Given the description of an element on the screen output the (x, y) to click on. 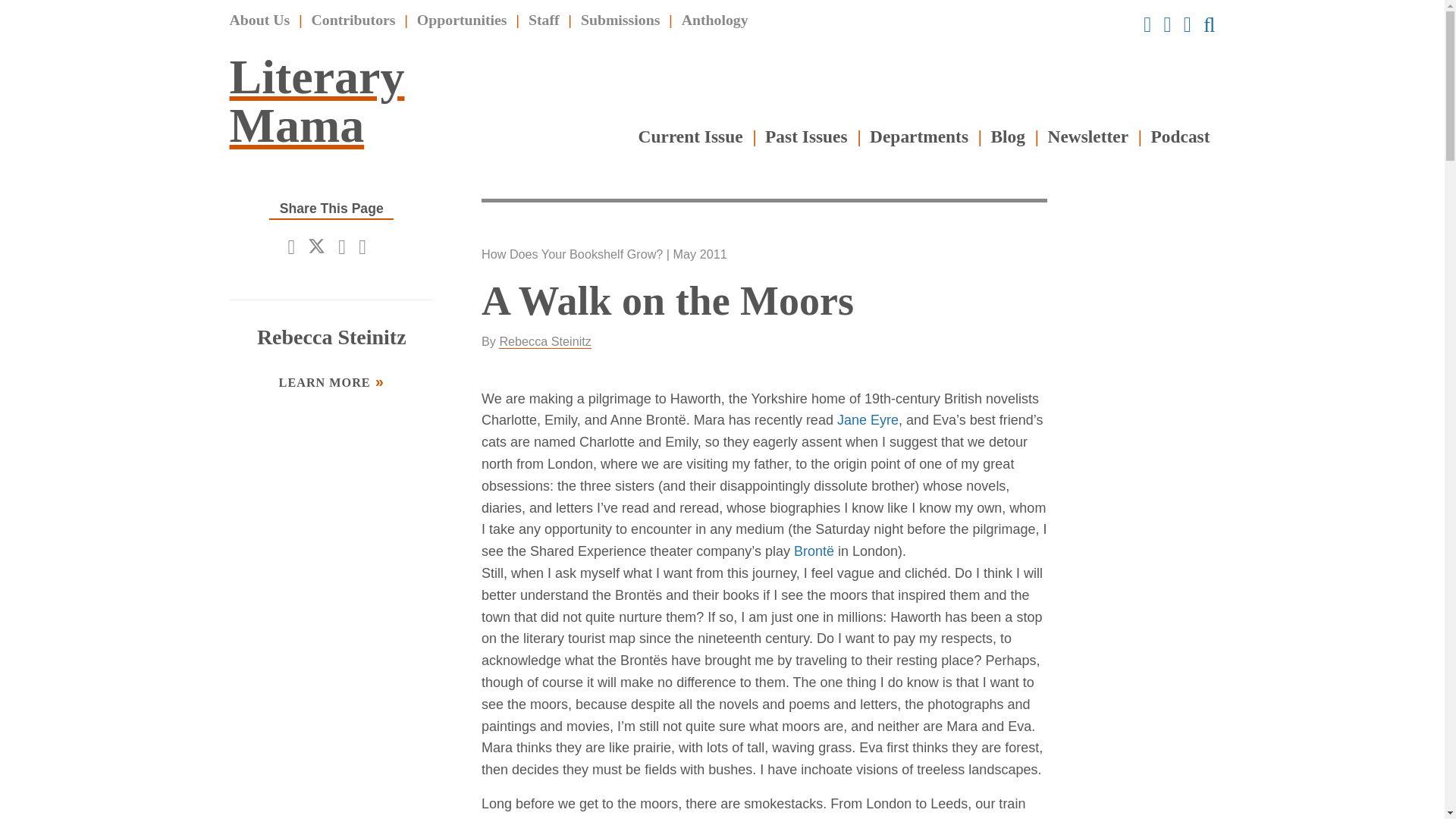
Current Issue (690, 136)
Anthology (714, 19)
Submissions (619, 19)
Departments (918, 136)
Opportunities (461, 19)
Jane Eyre (867, 419)
May 2011 (699, 254)
Staff (543, 19)
Past Issues (806, 136)
Contributors (353, 19)
